Given the description of an element on the screen output the (x, y) to click on. 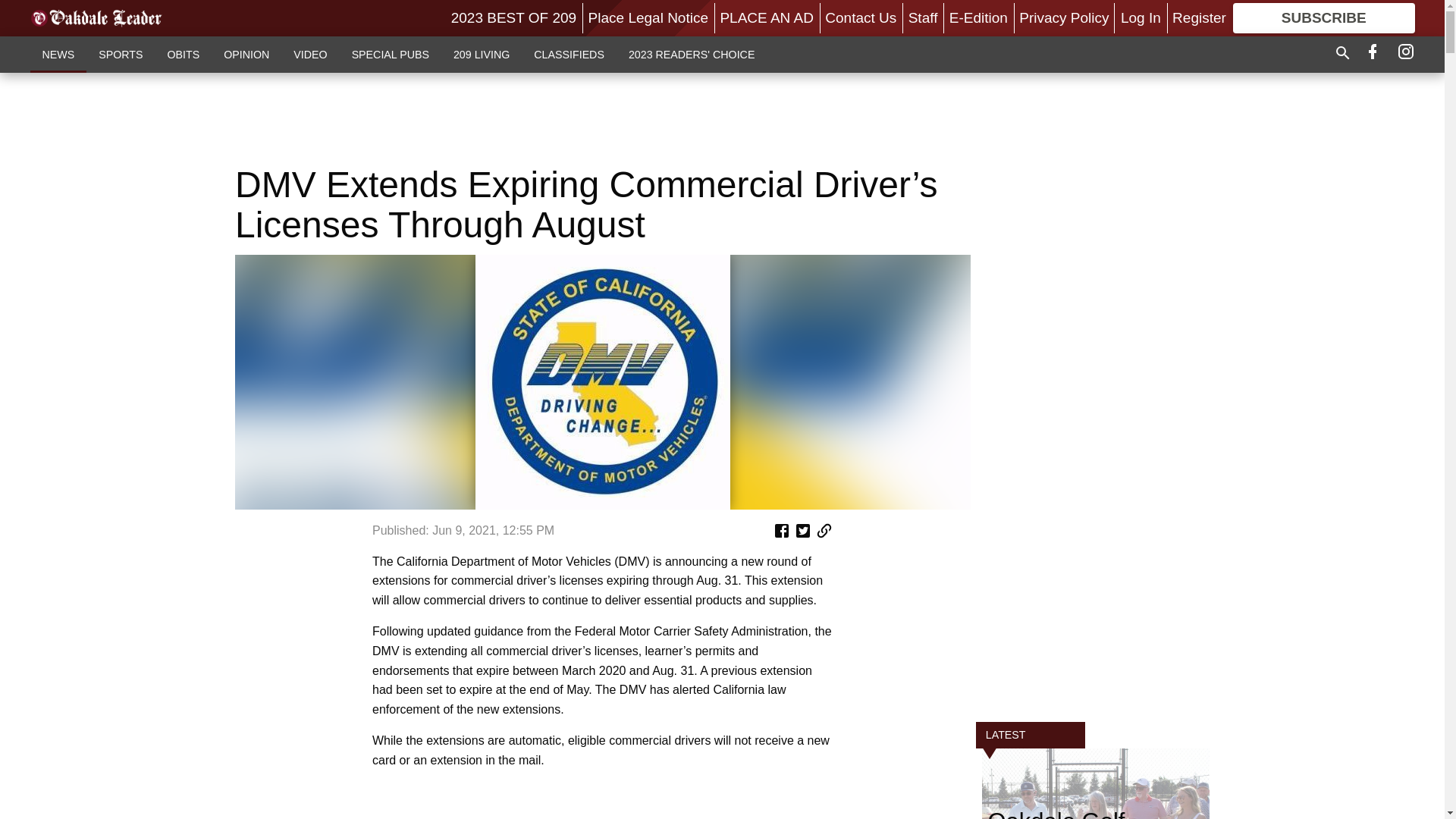
Register (1198, 17)
3rd party ad content (602, 803)
2023 READERS' CHOICE (691, 54)
Privacy Policy (1063, 17)
3rd party ad content (721, 119)
SPECIAL PUBS (390, 54)
209 LIVING (481, 54)
Log In (1140, 17)
3rd party ad content (1095, 482)
SPORTS (119, 54)
PLACE AN AD (766, 17)
OBITS (182, 54)
Contact Us (860, 17)
CLASSIFIEDS (568, 54)
VIDEO (310, 54)
